Given the description of an element on the screen output the (x, y) to click on. 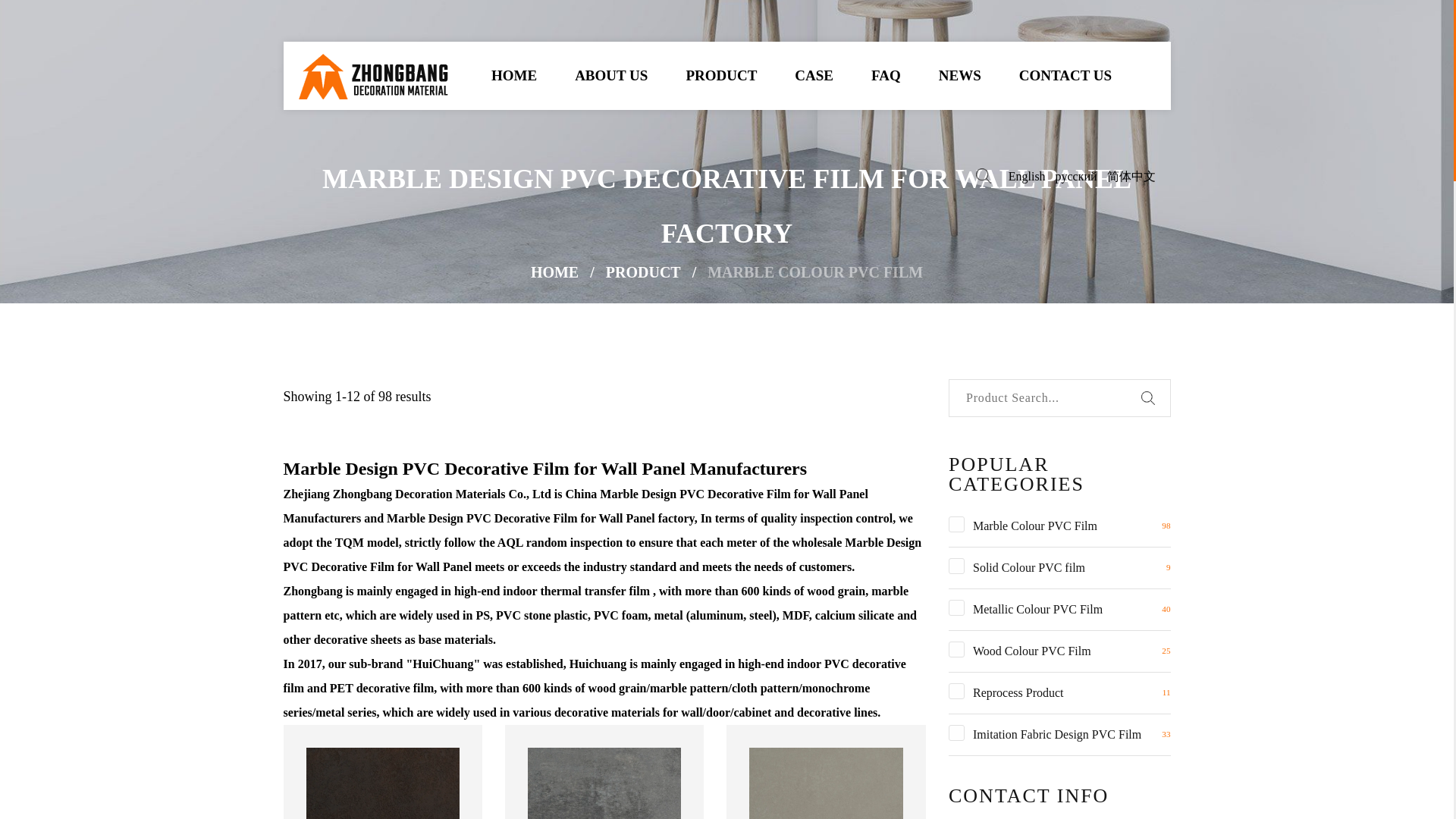
Fine sandstone HC-995-1 (604, 783)
PRODUCT (721, 75)
HOME (513, 75)
NEWS (960, 75)
ABOUT US (611, 75)
Golden Rock HC-995 (382, 783)
CONTACT US (1065, 75)
FAQ (885, 75)
English (1027, 175)
Spanish Beige Stone HC-995-2 (825, 783)
CASE (813, 75)
